Given the description of an element on the screen output the (x, y) to click on. 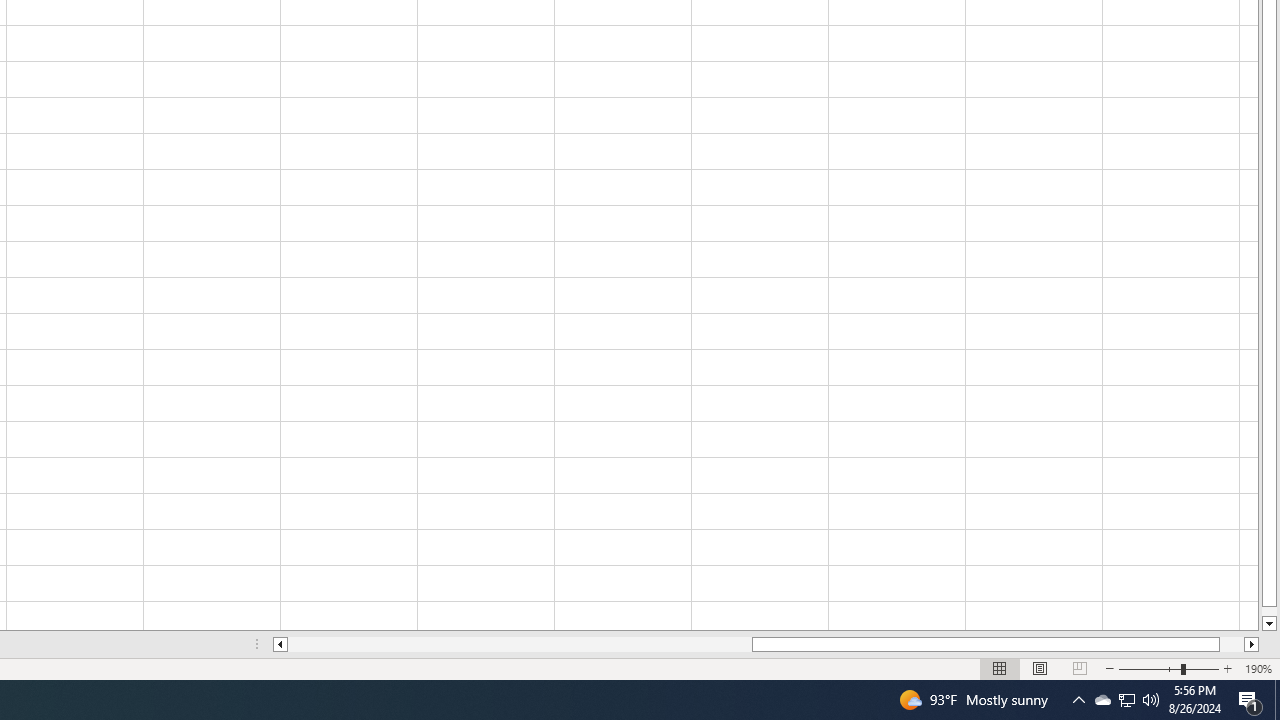
Class: NetUIScrollBar (765, 644)
Column left (279, 644)
Column right (1252, 644)
Zoom In (1227, 668)
Zoom Out (1149, 668)
Page right (1231, 644)
Page down (1268, 611)
Page Break Preview (1079, 668)
Page left (520, 644)
Zoom (1168, 668)
Line down (1268, 624)
